Given the description of an element on the screen output the (x, y) to click on. 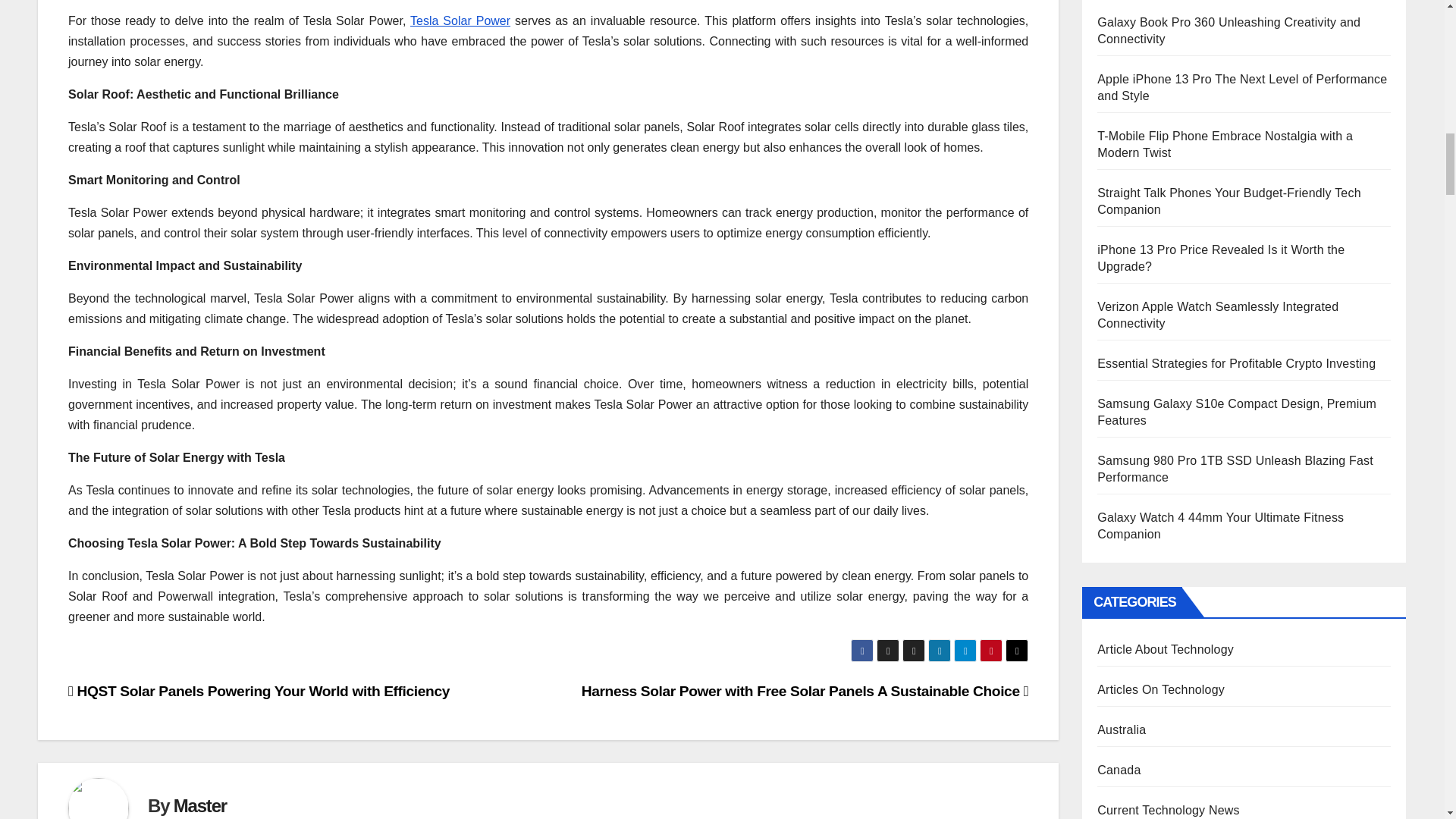
Master (200, 805)
Tesla Solar Power (460, 20)
HQST Solar Panels Powering Your World with Efficiency (258, 691)
